Given the description of an element on the screen output the (x, y) to click on. 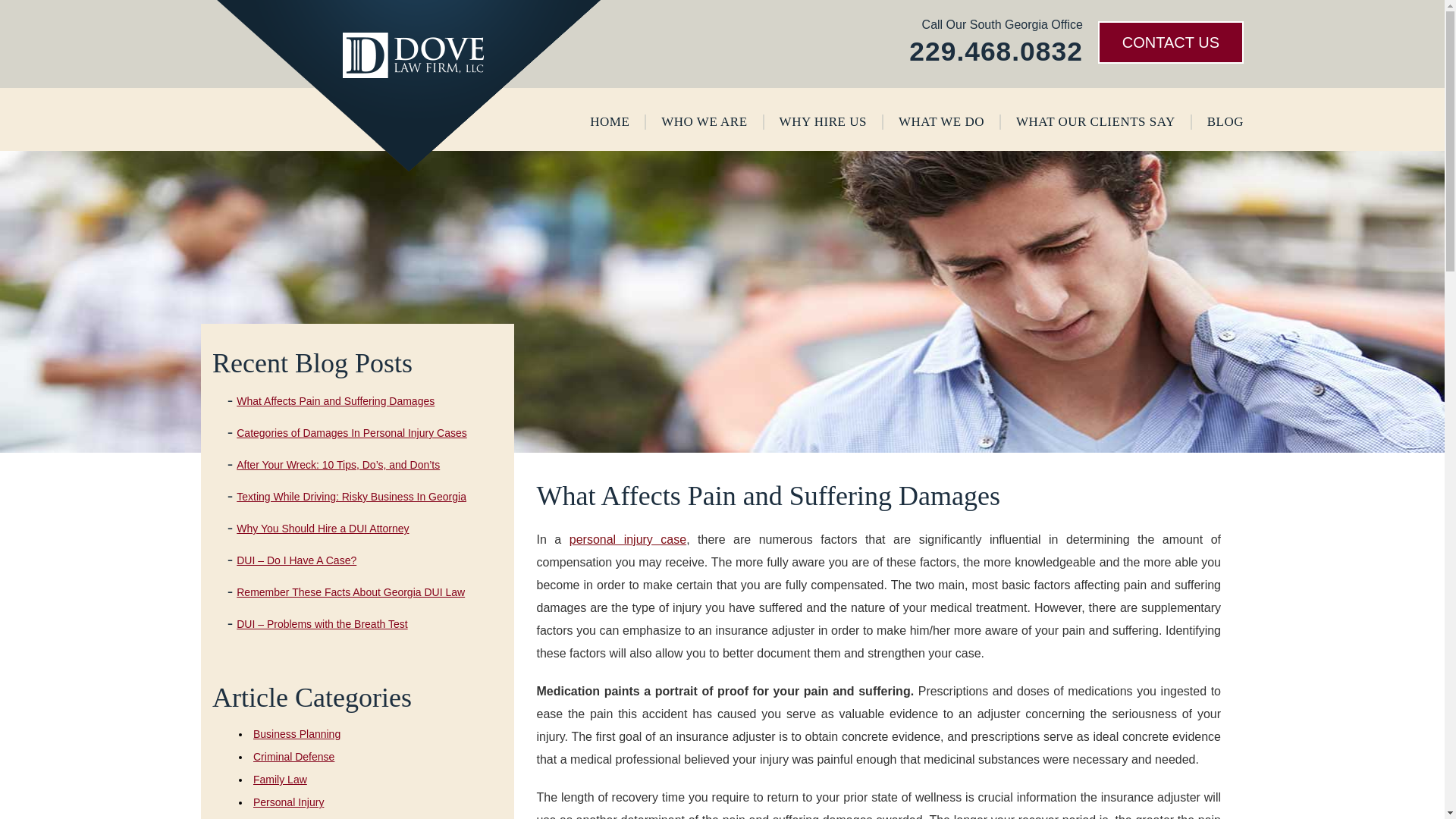
Criminal Defense (293, 756)
Categories of Damages In Personal Injury Cases (350, 432)
BLOG (1225, 121)
WHY HIRE US (822, 121)
CONTACT US (1170, 42)
Business Planning (296, 734)
229.468.0832 (995, 51)
Family Law (280, 779)
WHO WE ARE (703, 121)
Law Firm Marketing (636, 794)
Personal Injury (288, 802)
What Affects Pain and Suffering Damages (334, 400)
Macon, GA Law Firm (549, 794)
HOME (608, 121)
Texting While Driving: Risky Business In Georgia (350, 496)
